Given the description of an element on the screen output the (x, y) to click on. 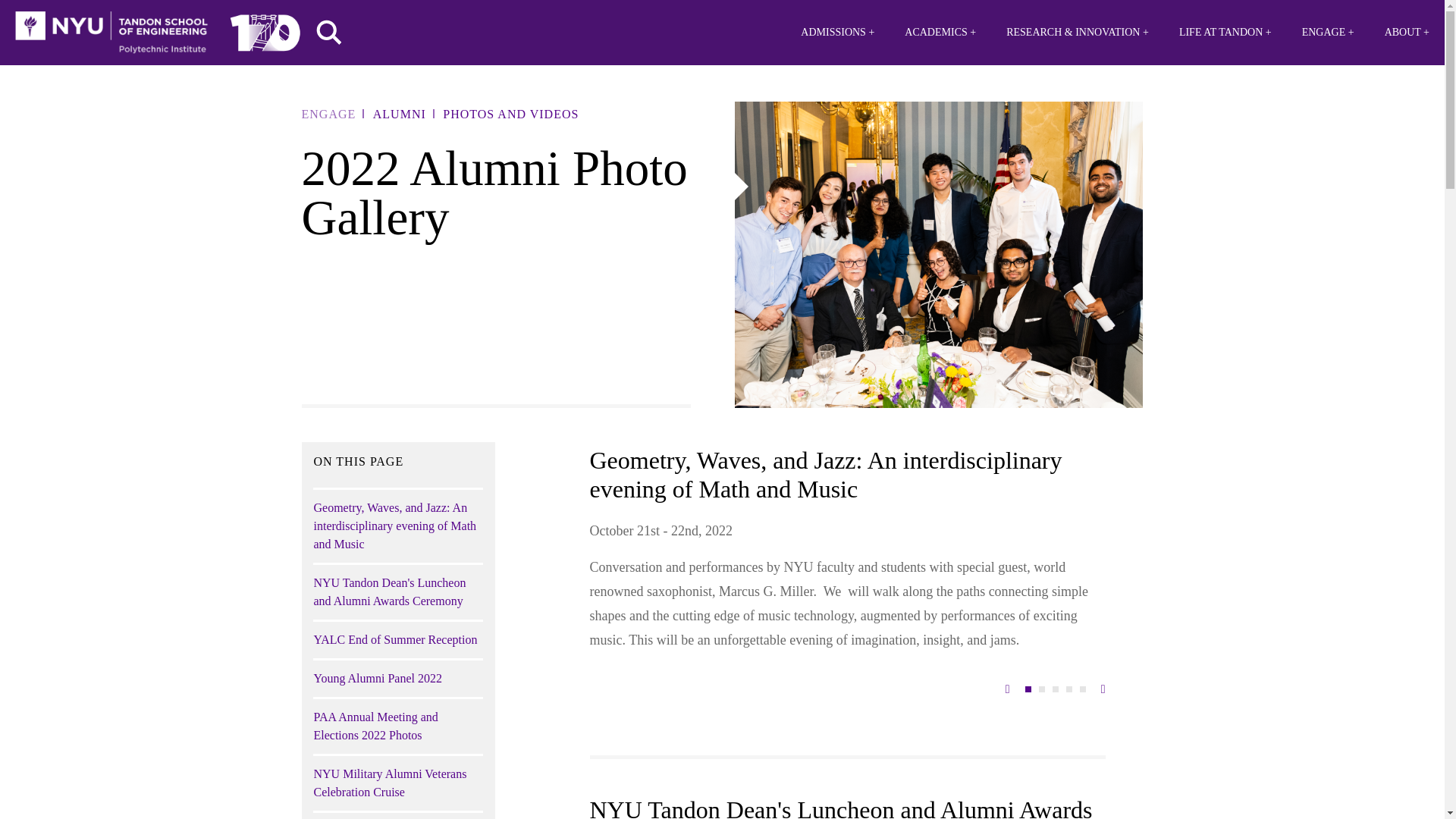
NYU Tandon School of Engineering - Polytechnic Institute (111, 32)
NYU Tandon Anniversary (264, 29)
NYU Tandon Logo (111, 32)
